Given the description of an element on the screen output the (x, y) to click on. 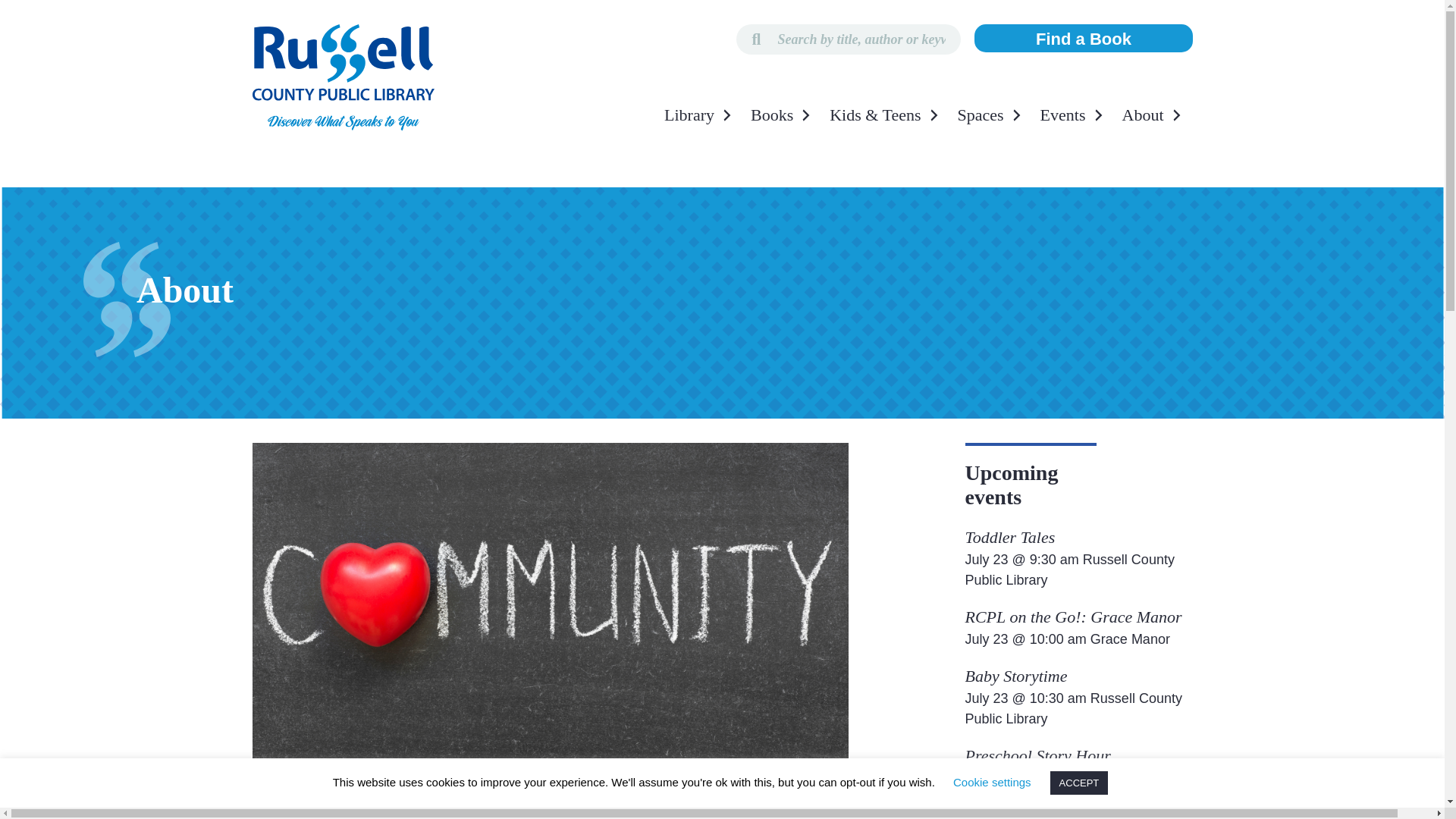
Spaces (991, 114)
Library (699, 114)
Find a Book (1083, 38)
Books (782, 114)
